Given the description of an element on the screen output the (x, y) to click on. 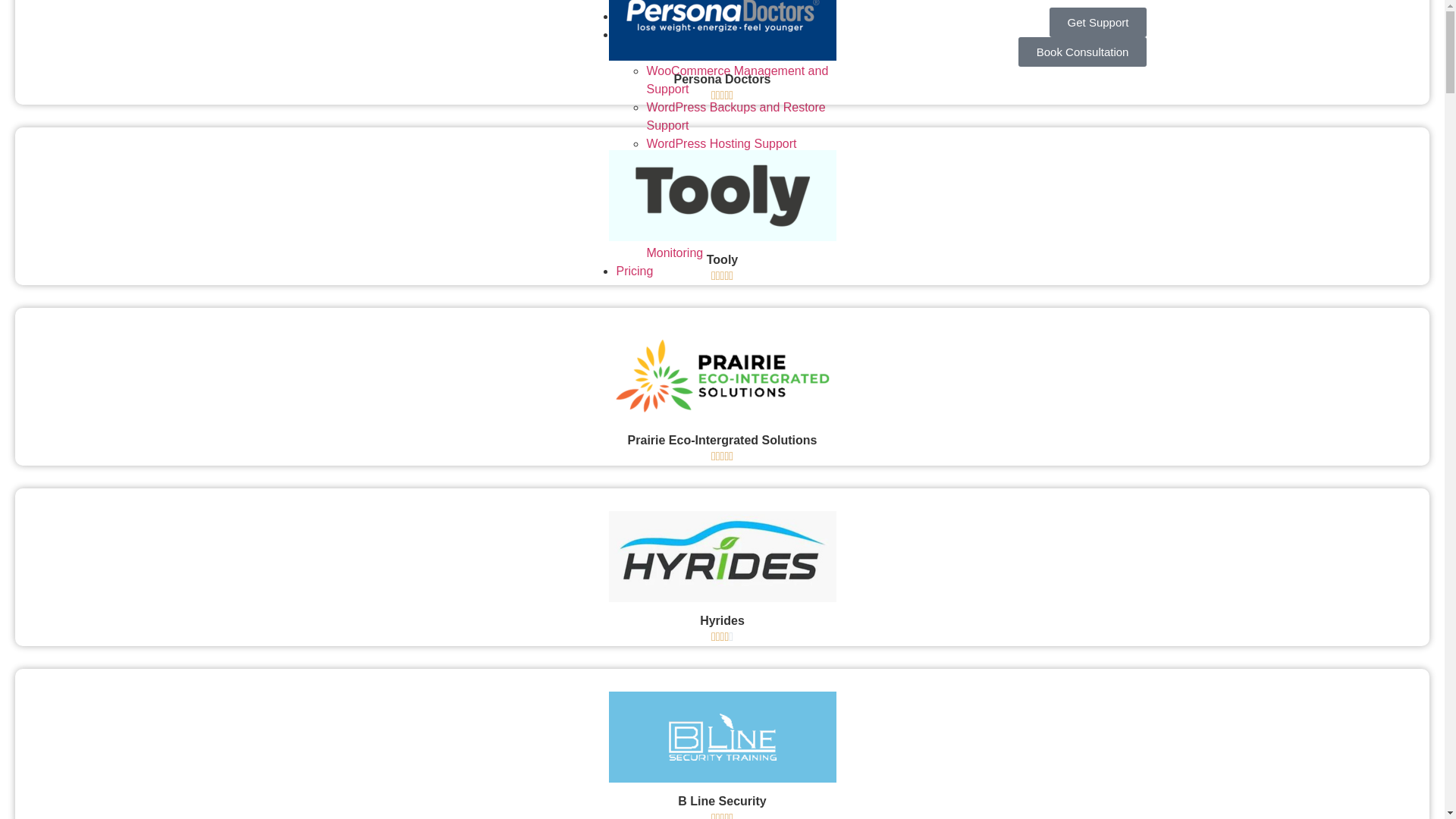
WordPress Hosting Support Element type: text (721, 143)
Prairie Eco-Intergrated Solutions Element type: text (722, 439)
24/7 WordPress Support Element type: text (712, 52)
Get Support Element type: text (1098, 22)
Persona Doctors Element type: text (721, 78)
WordPress Backups and Restore Support Element type: text (735, 115)
B Line Security Element type: text (721, 800)
Book Consultation Element type: text (1082, 51)
WooCommerce Management and Support Element type: text (737, 79)
WordPress Speed Optimization Element type: text (730, 197)
WordPress SEO Element type: text (690, 179)
WordPress Uptime, Auditing, and Monitoring Element type: text (735, 243)
WordPress Theme Customization Element type: text (736, 216)
Home Element type: text (631, 15)
Services Element type: text (638, 34)
Pricing Element type: text (633, 270)
Hyrides Element type: text (721, 620)
WordPress Security Element type: text (699, 161)
Tooly Element type: text (721, 259)
